Given the description of an element on the screen output the (x, y) to click on. 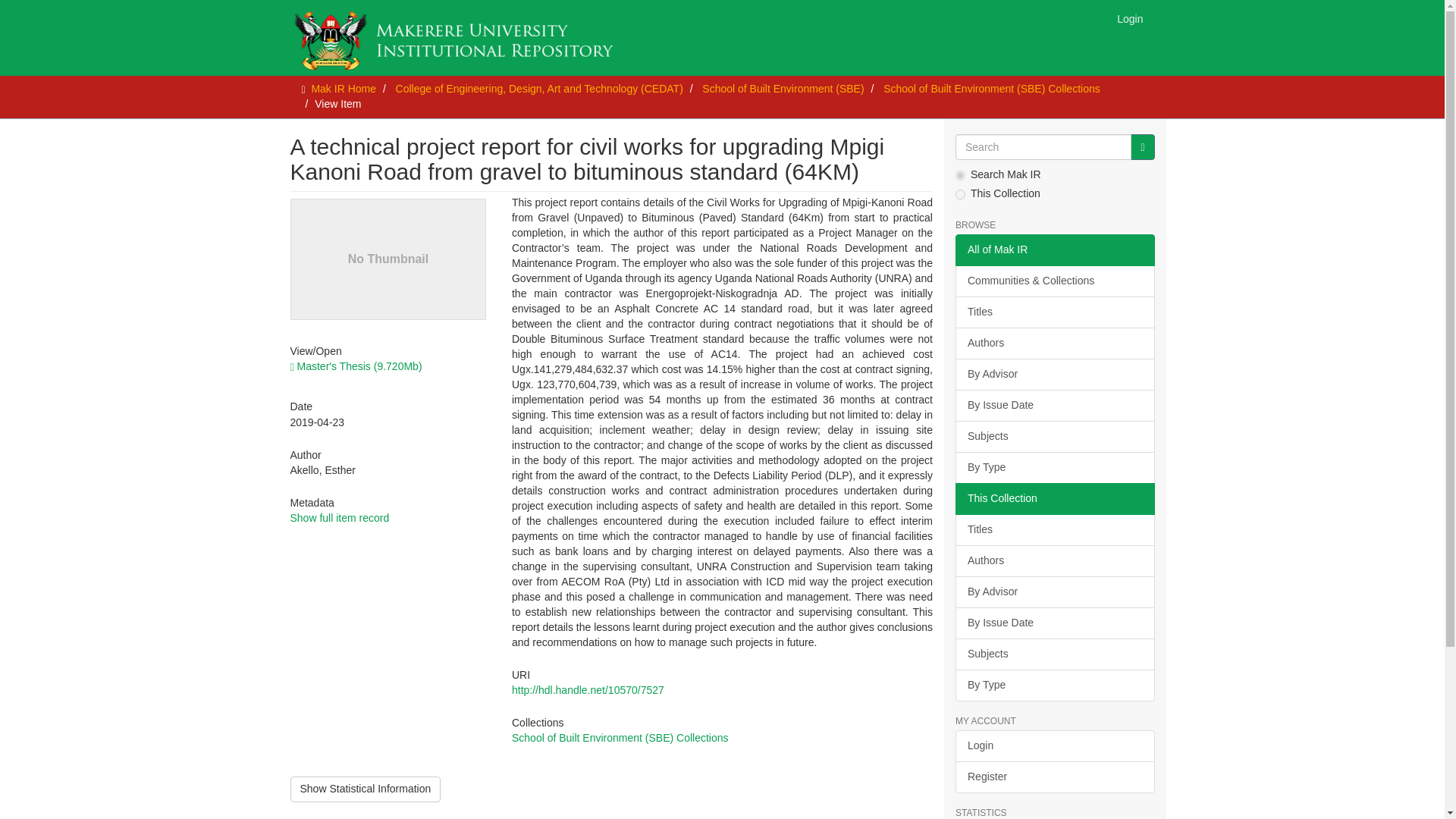
This Collection (1054, 499)
By Type (1054, 468)
Authors (1054, 343)
Login (1129, 18)
Subjects (1054, 436)
Go (1142, 146)
Authors (1054, 561)
By Issue Date (1054, 405)
Titles (1054, 312)
Show full item record (338, 517)
By Advisor (1054, 374)
Mak IR Home (343, 88)
By Issue Date (1054, 623)
All of Mak IR (1054, 250)
Titles (1054, 530)
